Given the description of an element on the screen output the (x, y) to click on. 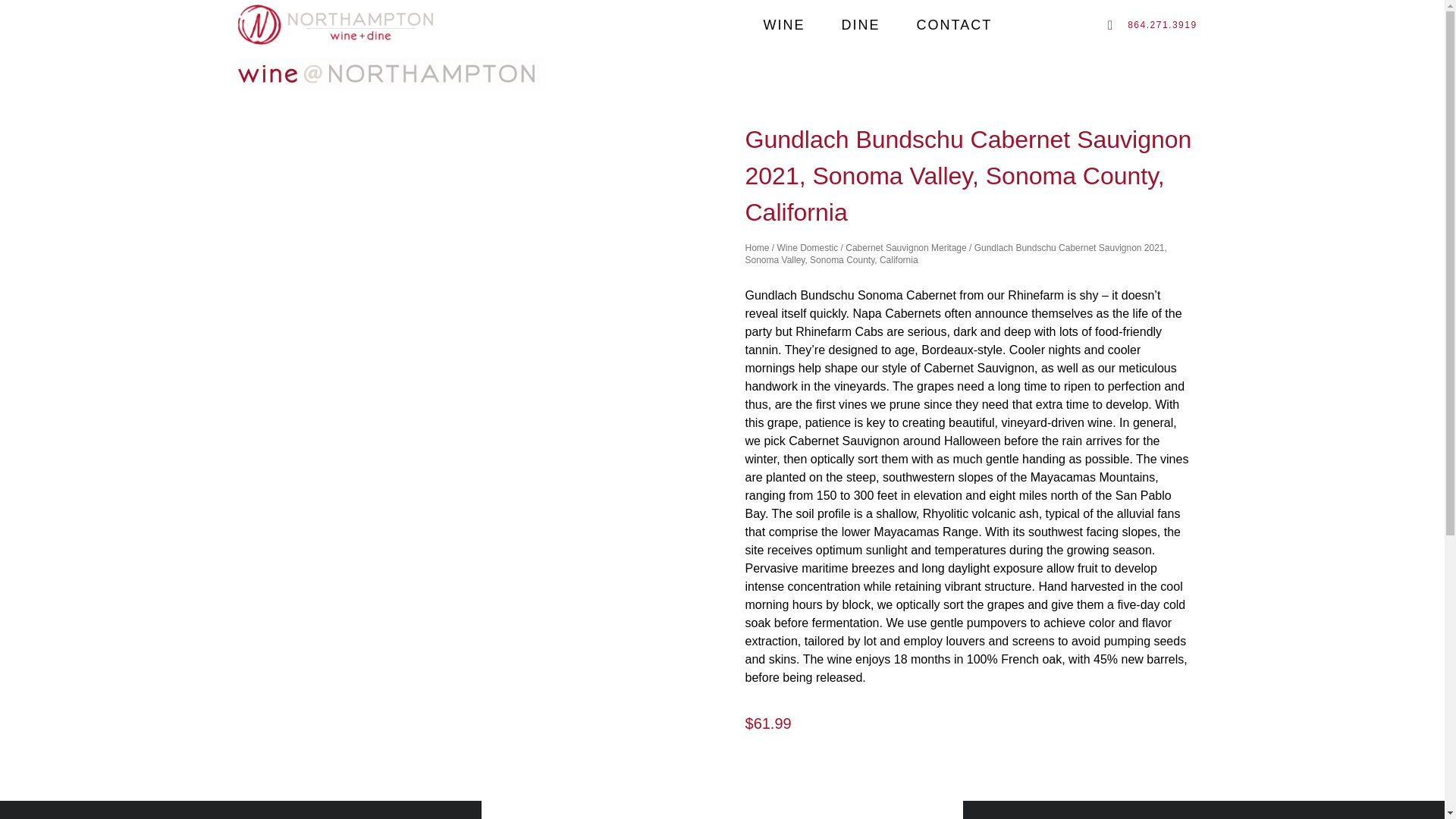
CONTACT (954, 24)
DINE (861, 24)
Wine Domestic (807, 247)
864.271.3919   (1156, 24)
WINE (784, 24)
Home (756, 247)
Cabernet Sauvignon Meritage (905, 247)
